Given the description of an element on the screen output the (x, y) to click on. 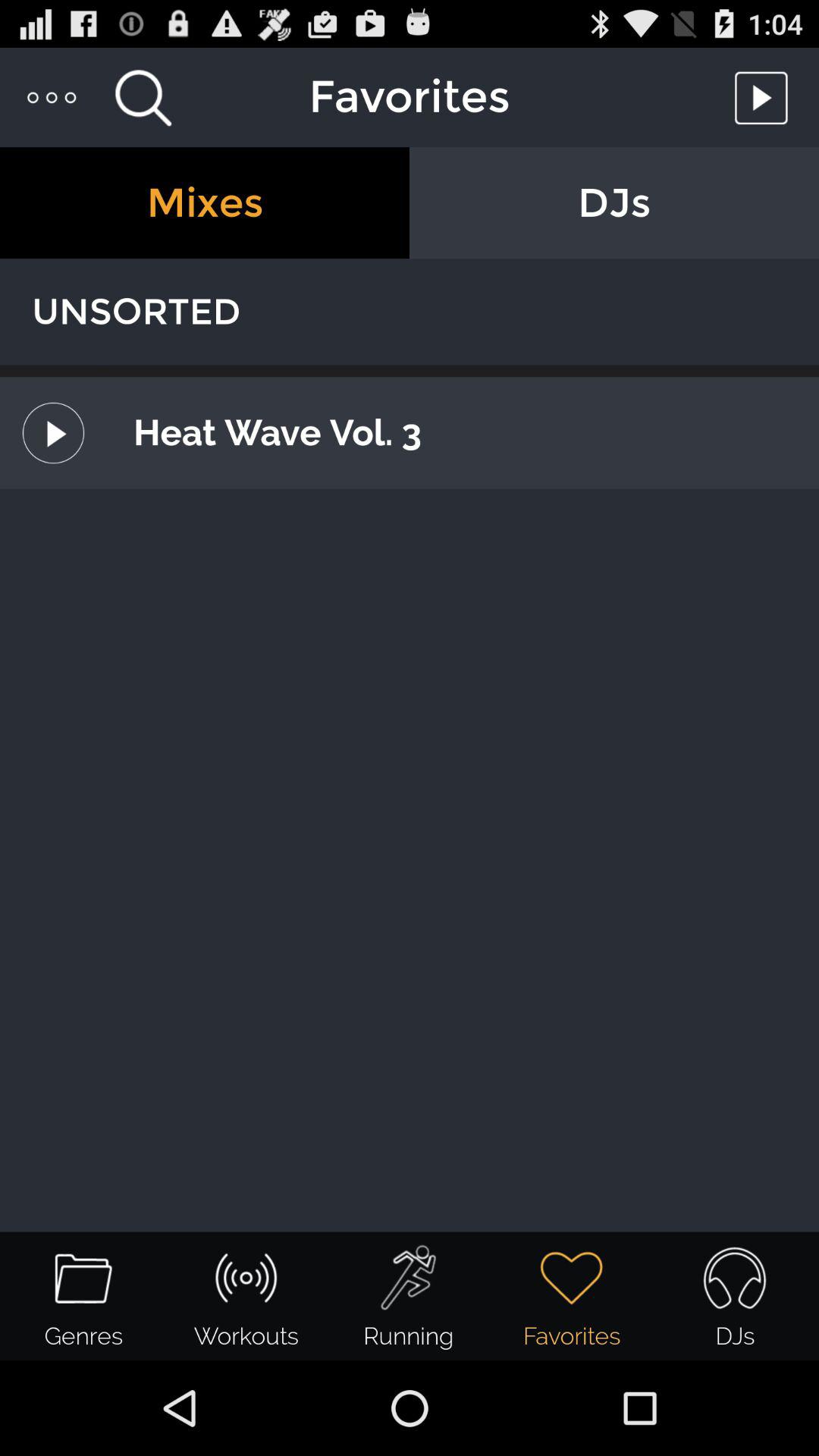
search (142, 97)
